Given the description of an element on the screen output the (x, y) to click on. 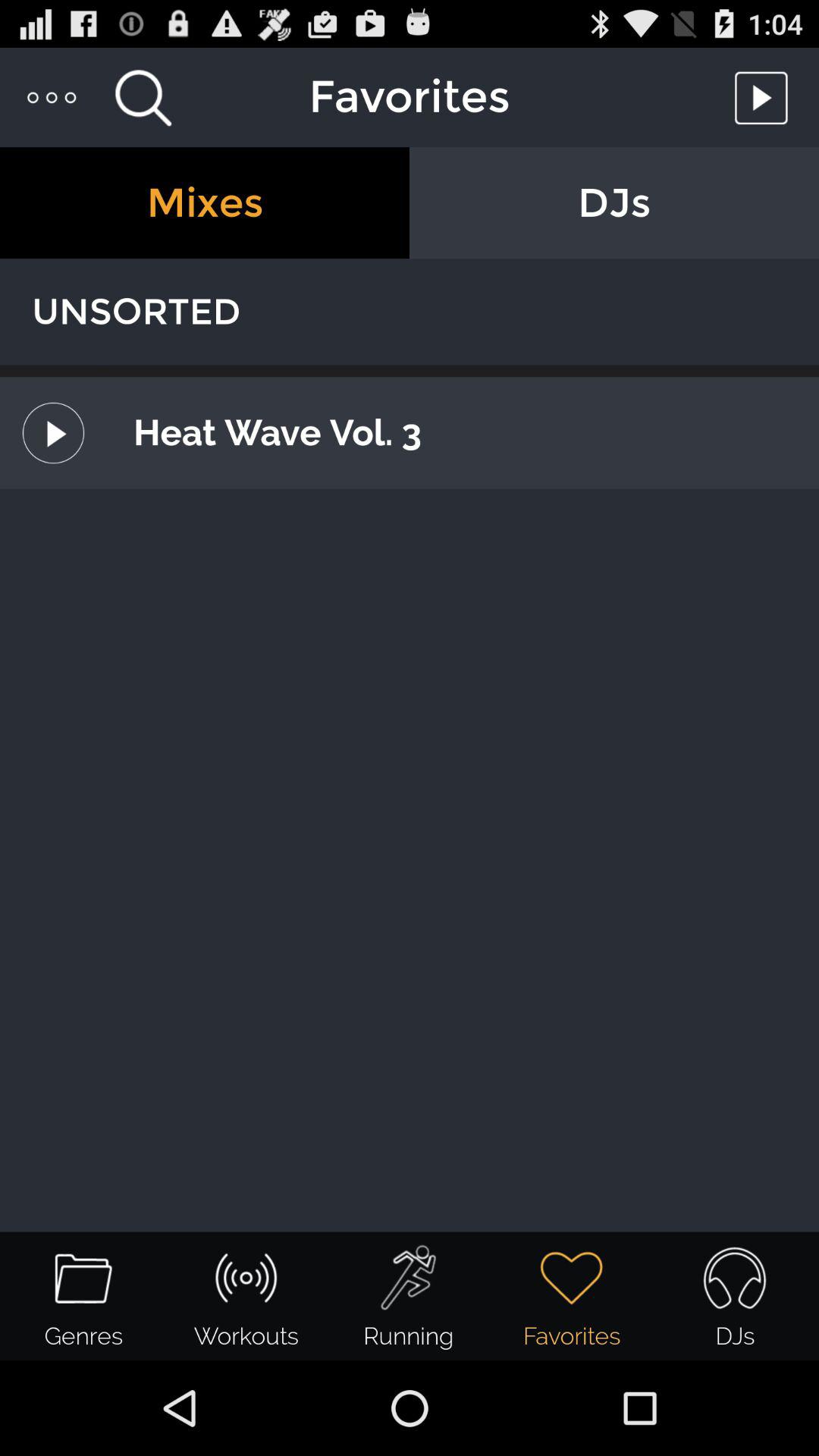
search (142, 97)
